Given the description of an element on the screen output the (x, y) to click on. 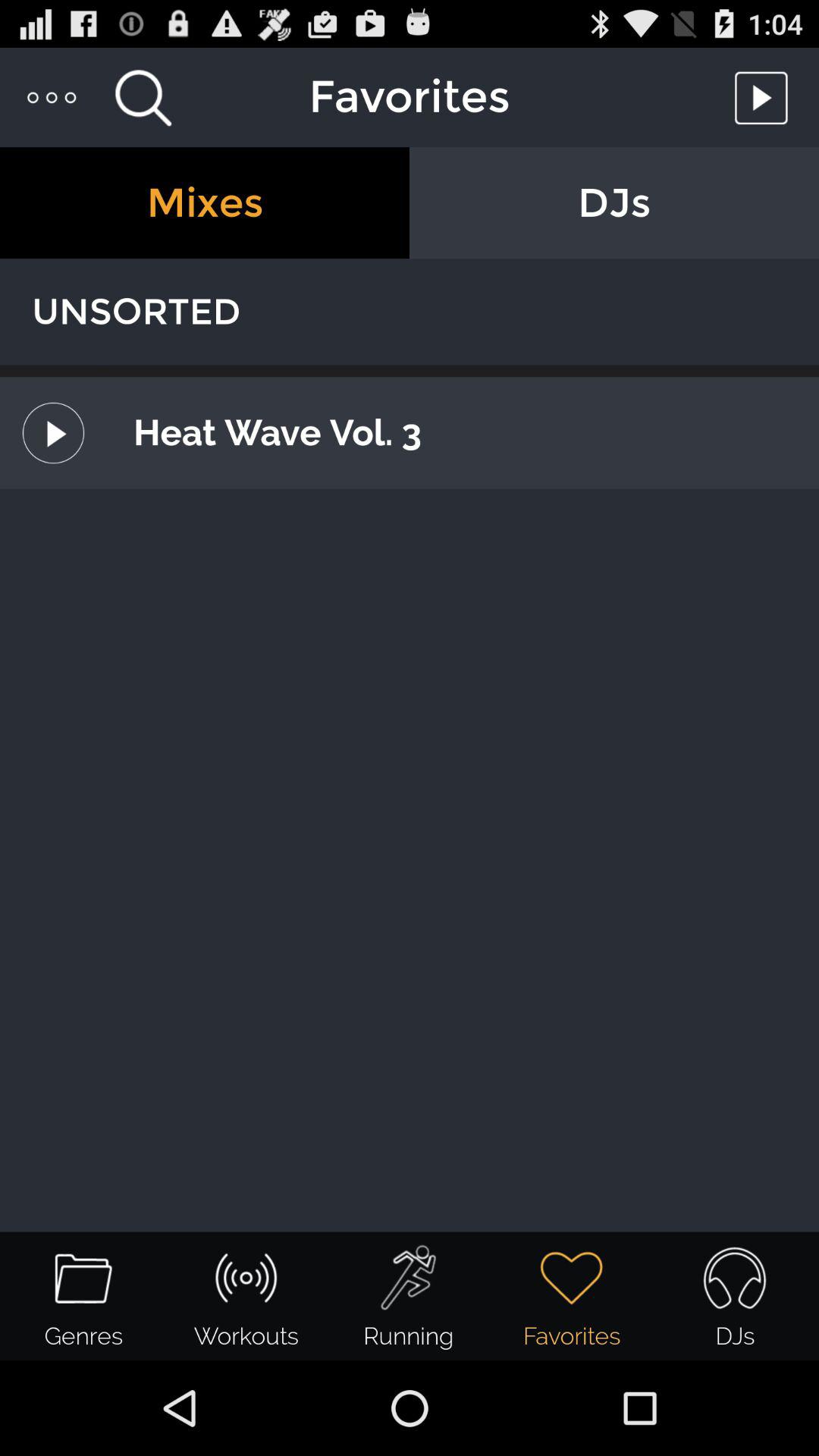
search (142, 97)
